Given the description of an element on the screen output the (x, y) to click on. 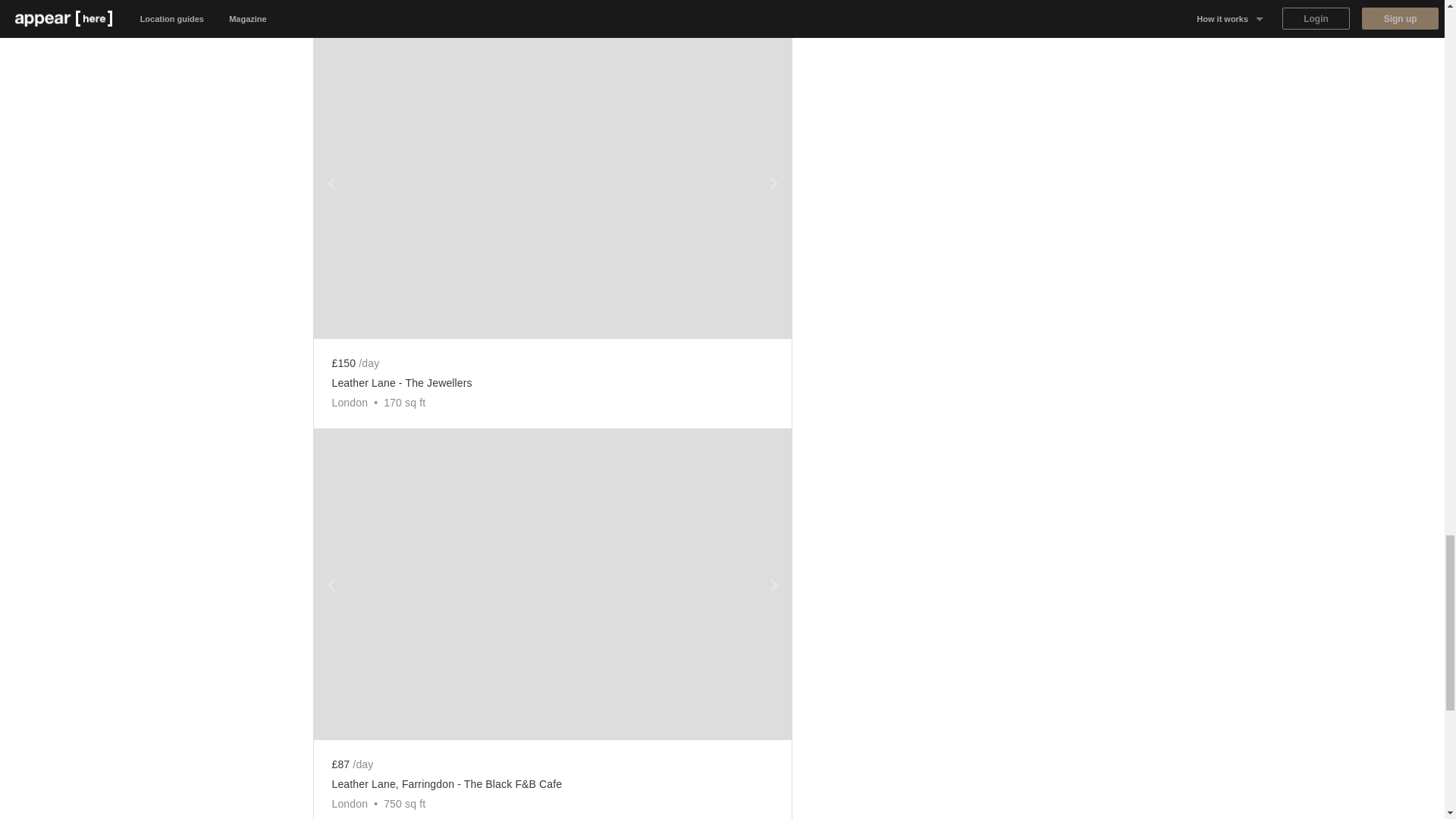
Chevron-up (330, 585)
Chevron-up (330, 183)
Chevron-up (772, 585)
Chevron-up (772, 183)
